Given the description of an element on the screen output the (x, y) to click on. 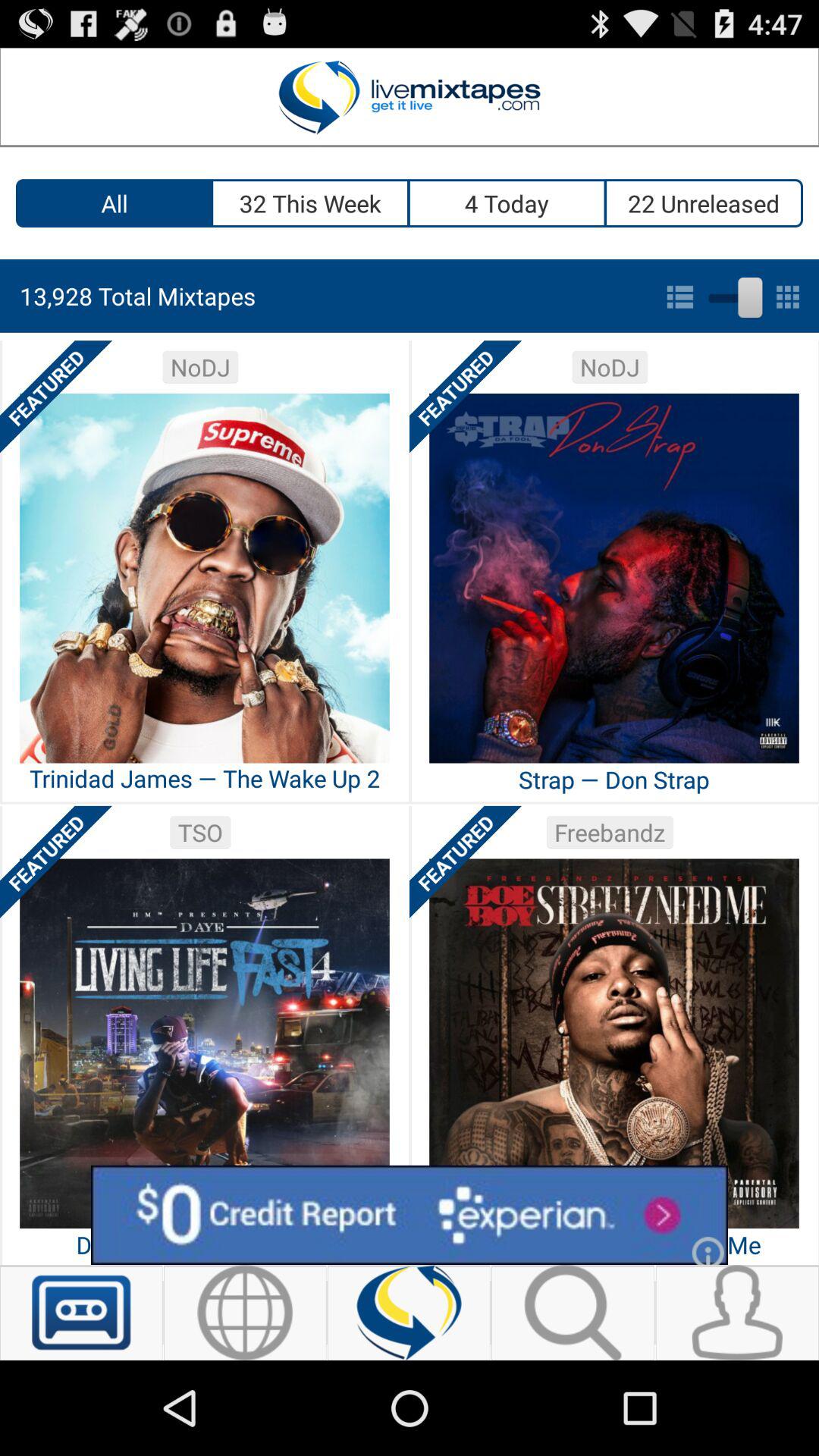
press the icon next to the 32 this week app (113, 203)
